Given the description of an element on the screen output the (x, y) to click on. 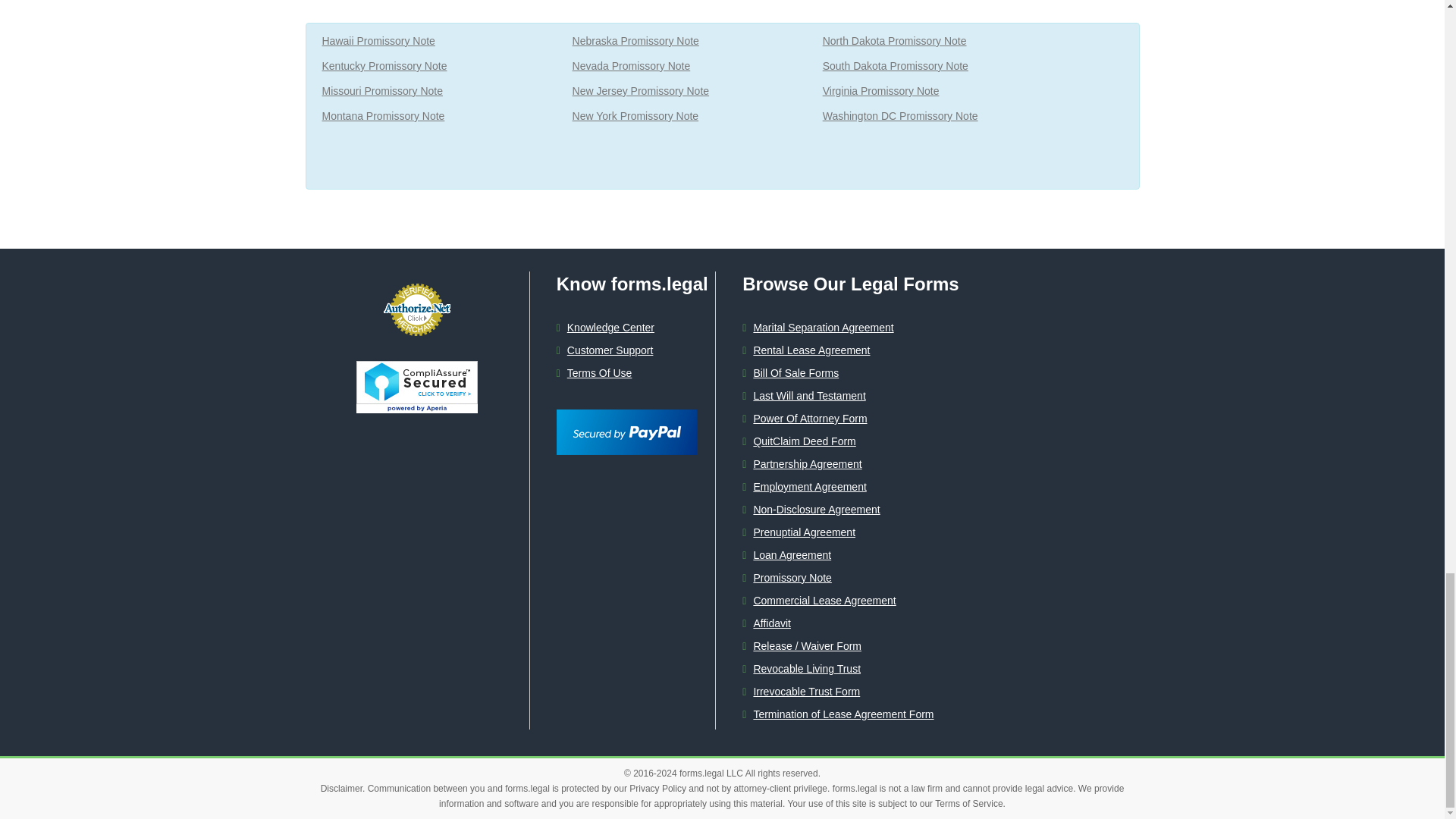
Hawaii Promissory Note (378, 41)
Kentucky Promissory Note (384, 66)
forms.legal (701, 773)
How PayPal Works (626, 417)
